Given the description of an element on the screen output the (x, y) to click on. 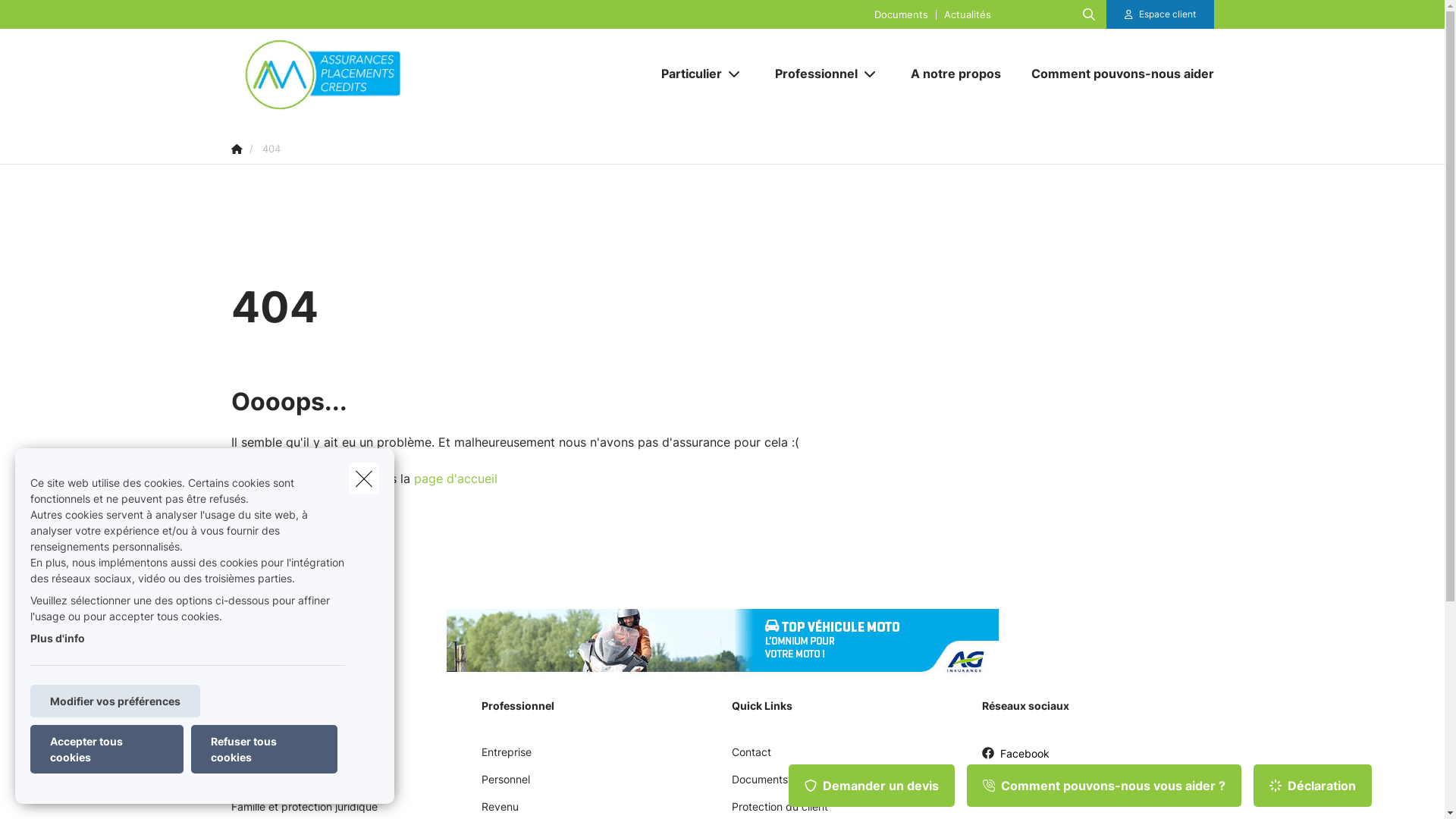
Personnel Element type: text (504, 784)
Documents Element type: text (759, 784)
Plus d'info Element type: text (57, 637)
Espace client Element type: text (1167, 14)
Entreprise Element type: text (505, 757)
Comment pouvons-nous vous aider ? Element type: text (1103, 785)
Comment pouvons-nous aider Element type: text (1115, 73)
Contact Element type: text (750, 757)
Facebook Element type: text (1014, 758)
Espace client Element type: text (1160, 14)
Demander un devis Element type: text (871, 785)
A notre propos Element type: text (954, 73)
Professionnel Element type: text (810, 73)
Particulier Element type: text (685, 73)
LinkedIn Element type: text (1011, 788)
Documents Element type: text (900, 13)
Refuser tous cookies Element type: text (264, 748)
Rechercher Element type: text (54, 18)
Accepter tous cookies Element type: text (106, 748)
Habitation Element type: text (255, 784)
page d'accueil Element type: text (455, 478)
